Given the description of an element on the screen output the (x, y) to click on. 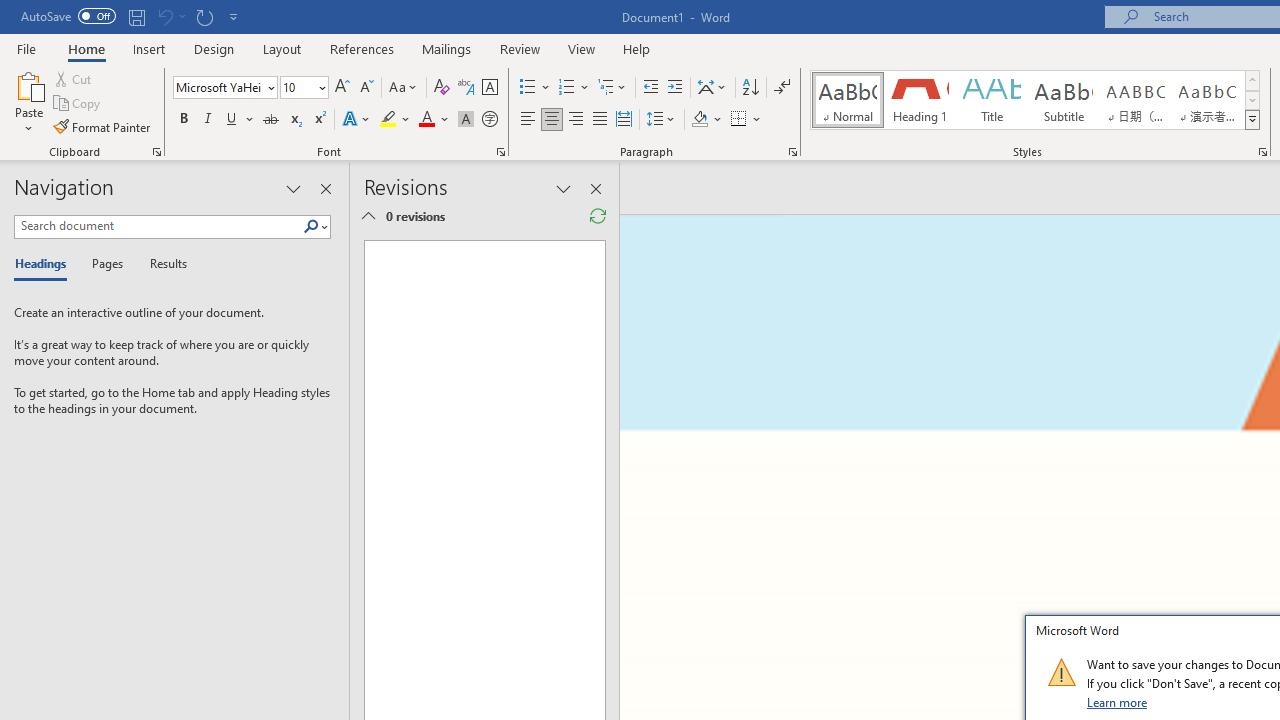
Can't Undo (170, 15)
